Given the description of an element on the screen output the (x, y) to click on. 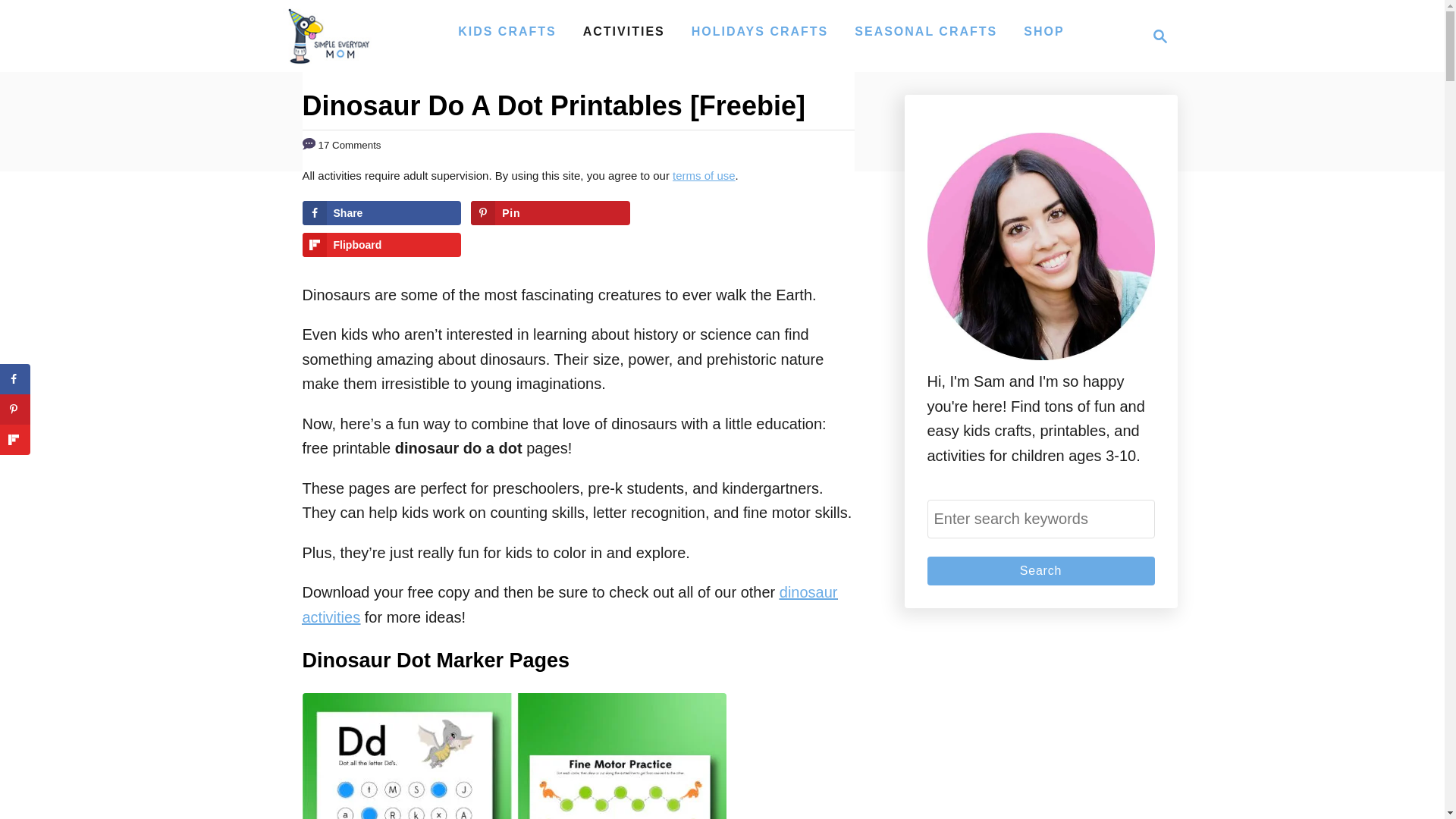
Simple Everyday Mom (328, 35)
Search (1040, 570)
Search (1040, 570)
Save to Pinterest (550, 212)
KIDS CRAFTS (506, 31)
ACTIVITIES (623, 31)
Search for: (1040, 518)
Magnifying Glass (1160, 36)
HOLIDAYS CRAFTS (759, 31)
Share on Flipboard (381, 244)
Share on Facebook (381, 212)
